Given the description of an element on the screen output the (x, y) to click on. 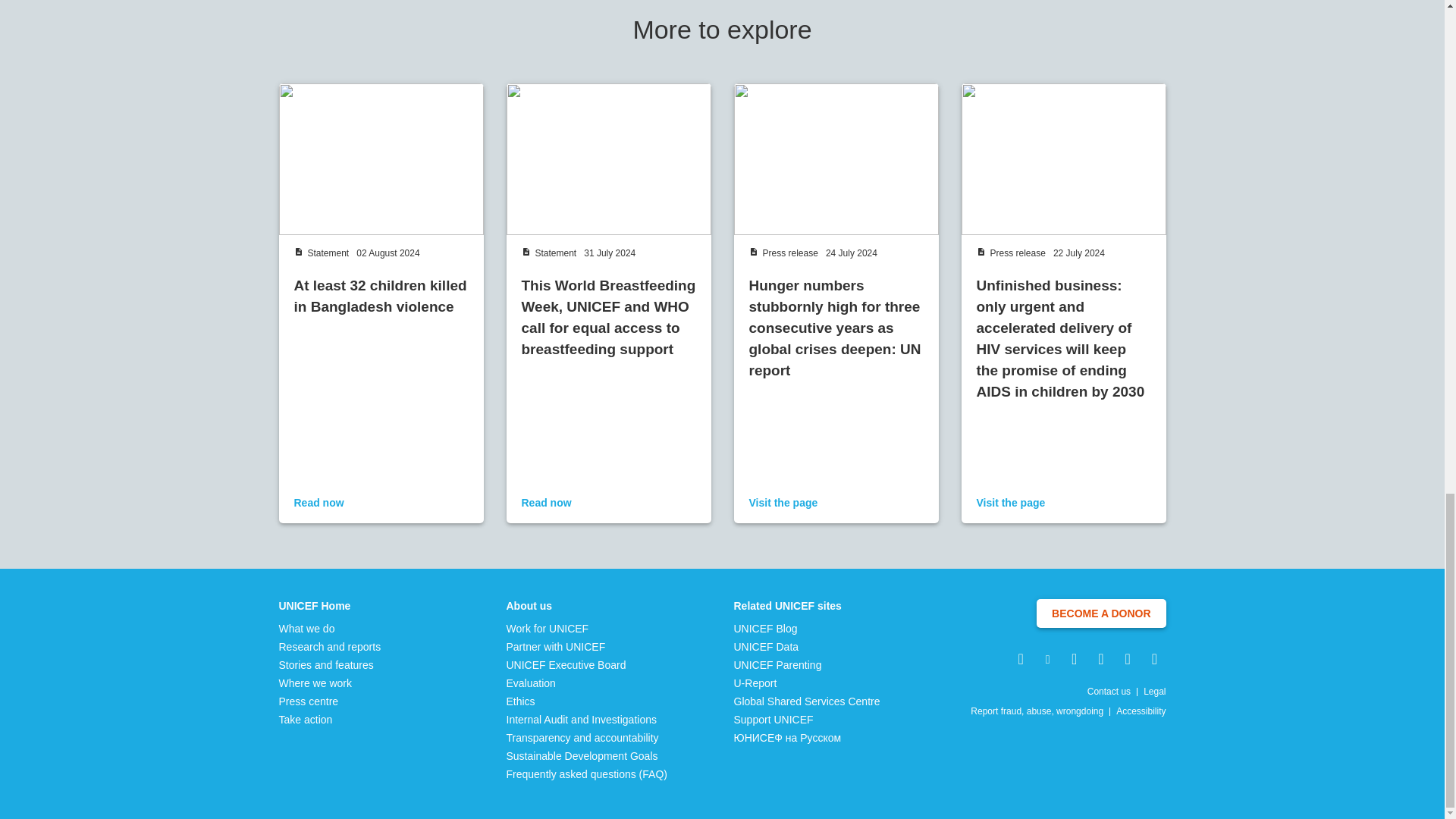
Research and reports (330, 646)
What we do (330, 628)
Partner with UNICEF (586, 646)
Work for UNICEF (586, 628)
Press centre (330, 701)
About us (586, 605)
Where we work (330, 683)
Stories and features (330, 664)
UNICEF Home (330, 605)
Take action (330, 719)
